Given the description of an element on the screen output the (x, y) to click on. 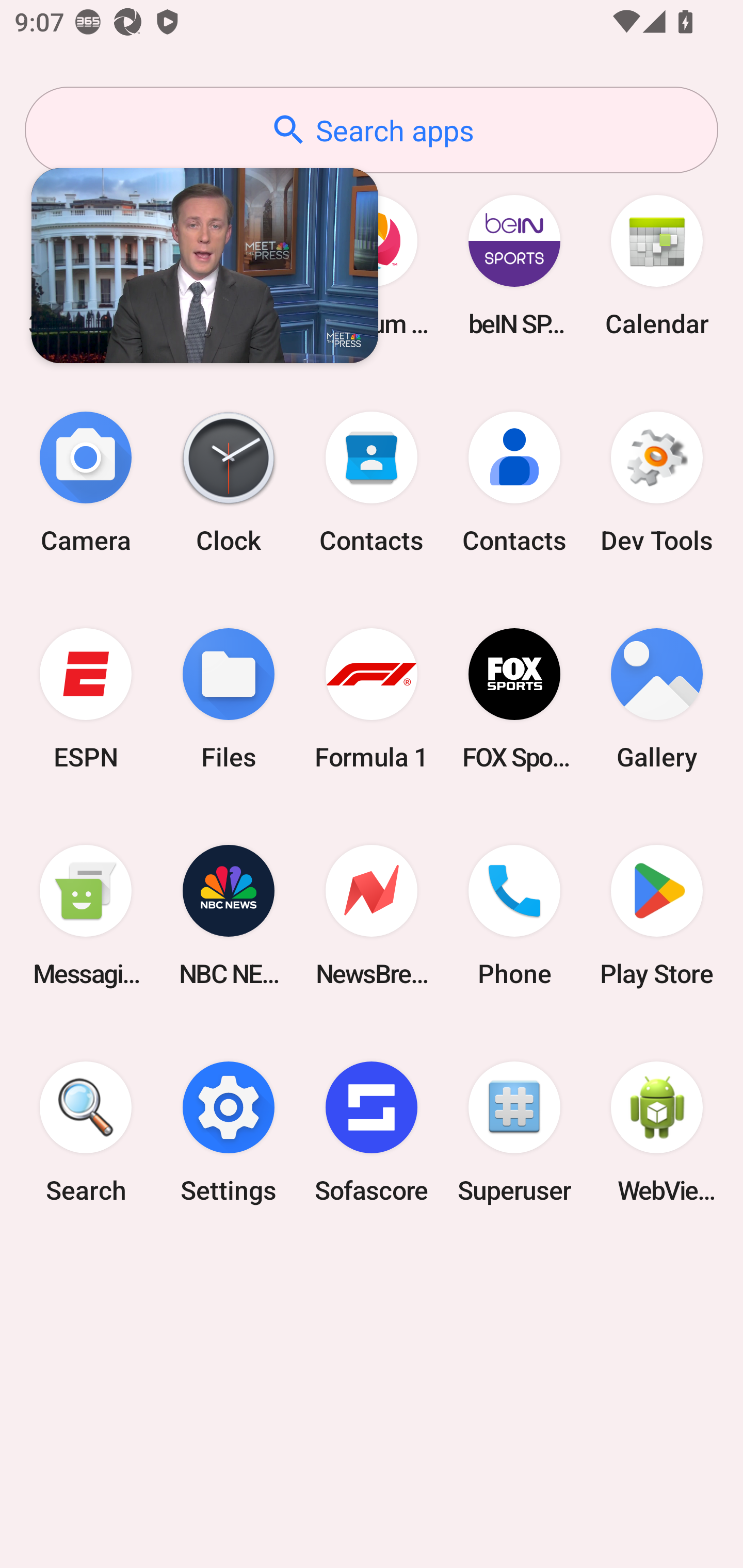
  Search apps (371, 130)
365Scores (85, 264)
Amaze (228, 264)
Appium Settings (371, 264)
beIN SPORTS (514, 264)
Calendar (656, 264)
Camera (85, 482)
Clock (228, 482)
Contacts (371, 482)
Contacts (514, 482)
Dev Tools (656, 482)
ESPN (85, 699)
Files (228, 699)
Formula 1 (371, 699)
FOX Sports (514, 699)
Gallery (656, 699)
Messaging (85, 915)
NBC NEWS (228, 915)
NewsBreak (371, 915)
Phone (514, 915)
Play Store (656, 915)
Search (85, 1131)
Settings (228, 1131)
Sofascore (371, 1131)
Superuser (514, 1131)
WebView Browser Tester (656, 1131)
